Given the description of an element on the screen output the (x, y) to click on. 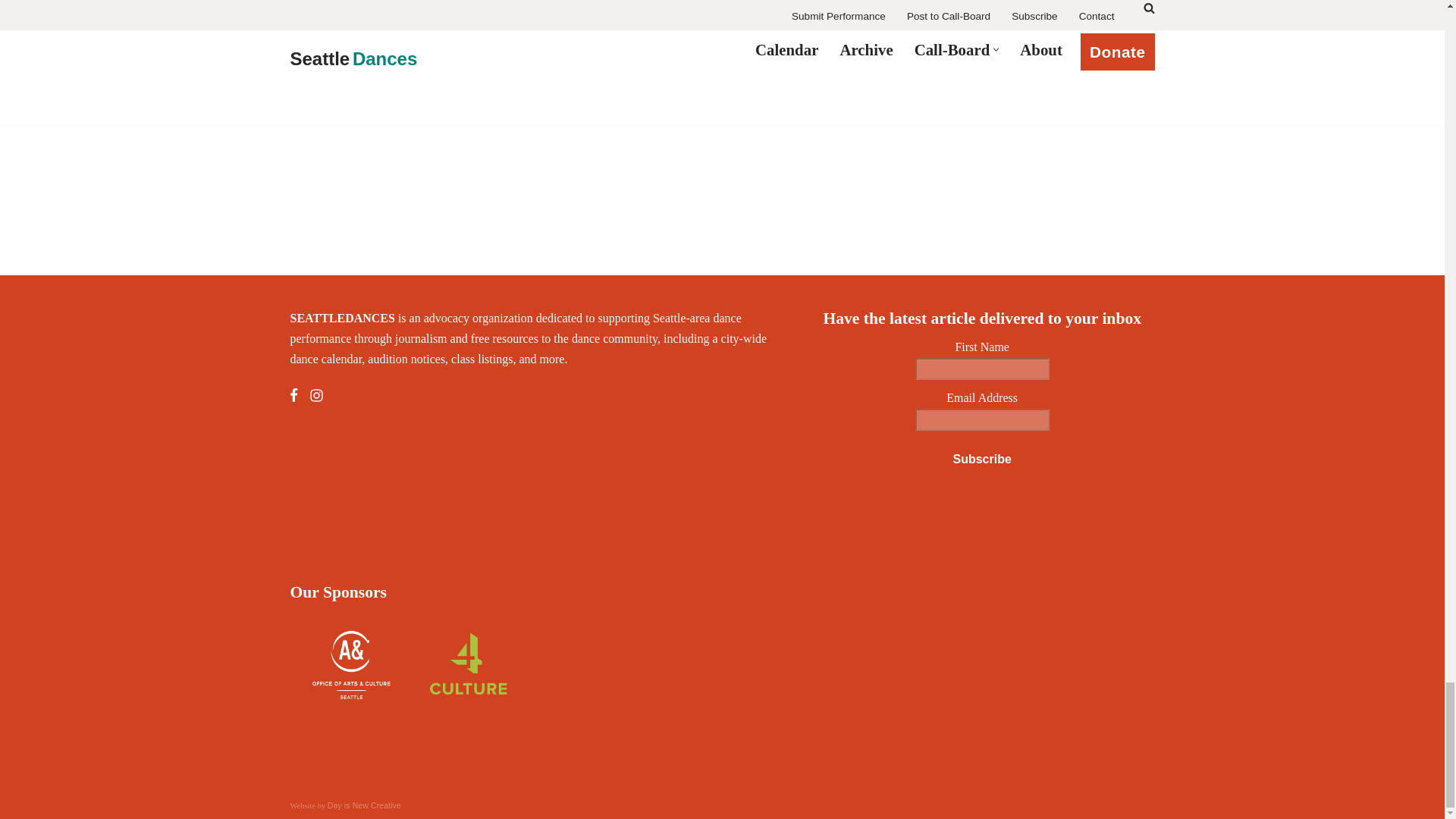
Subscribe (981, 459)
